Given the description of an element on the screen output the (x, y) to click on. 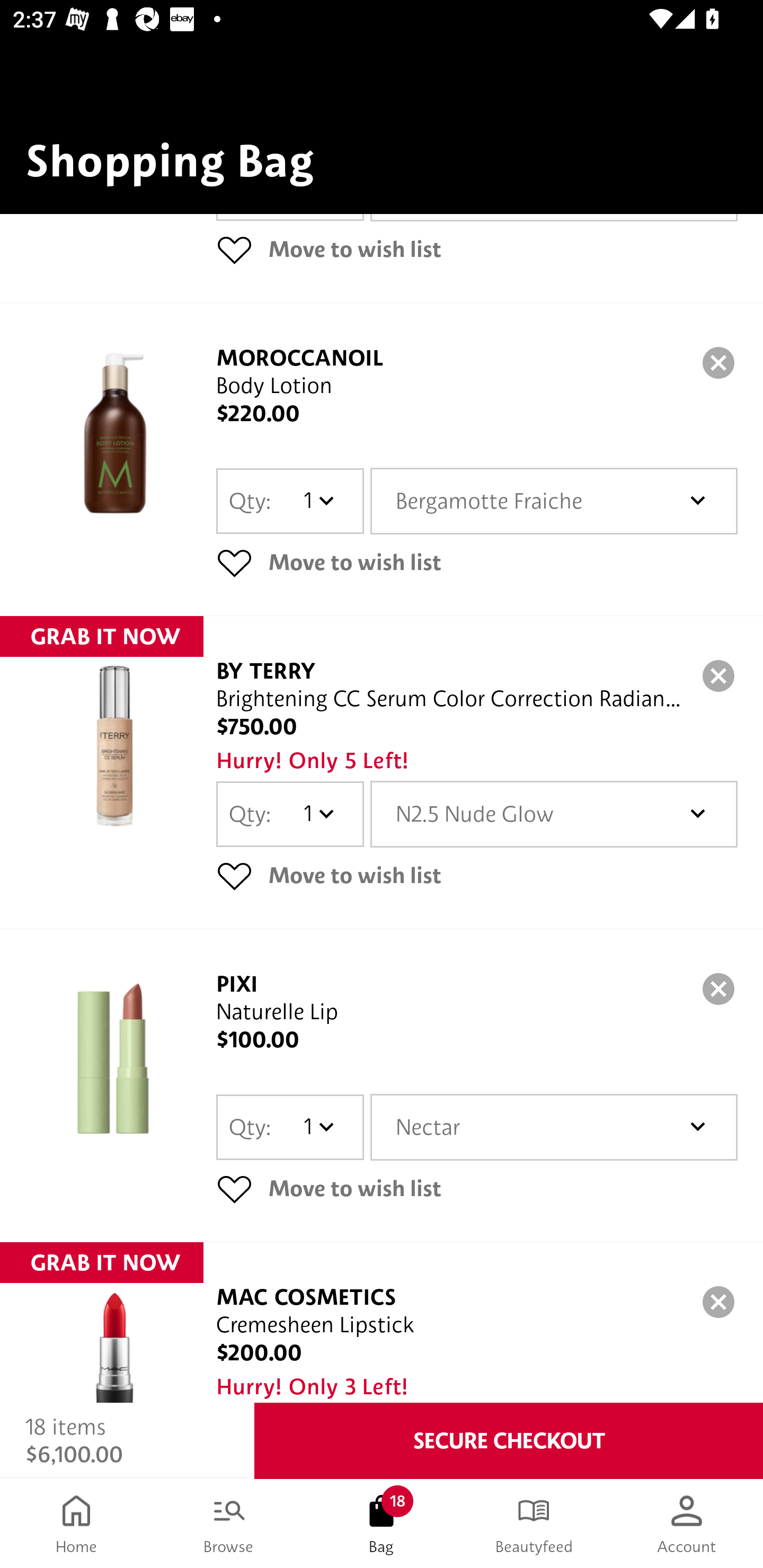
Move to wish list (476, 249)
Bergamotte Fraiche (553, 500)
1 (317, 500)
Move to wish list (476, 561)
N2.5 Nude Glow (553, 813)
1 (317, 813)
Move to wish list (476, 875)
Nectar (553, 1127)
1 (317, 1127)
Move to wish list (476, 1188)
SECURE CHECKOUT (508, 1440)
Home (76, 1523)
Browse (228, 1523)
Beautyfeed (533, 1523)
Account (686, 1523)
